Given the description of an element on the screen output the (x, y) to click on. 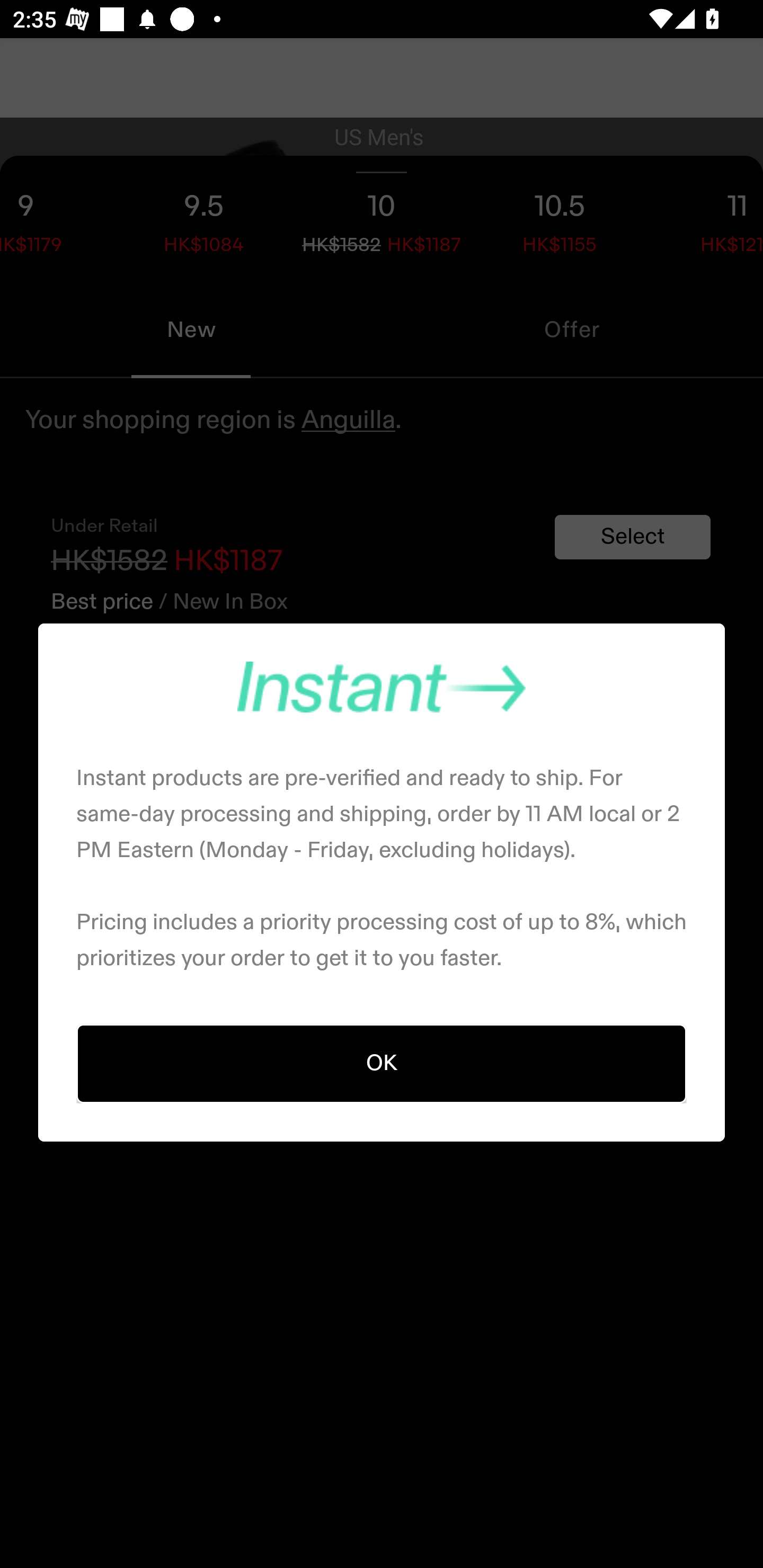
OK (381, 1063)
